Given the description of an element on the screen output the (x, y) to click on. 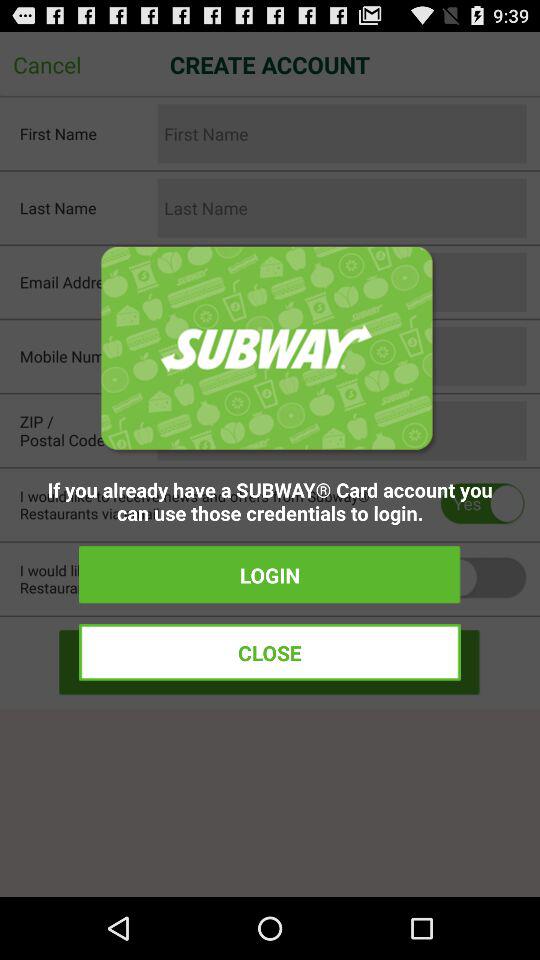
launch close at the bottom (269, 652)
